Given the description of an element on the screen output the (x, y) to click on. 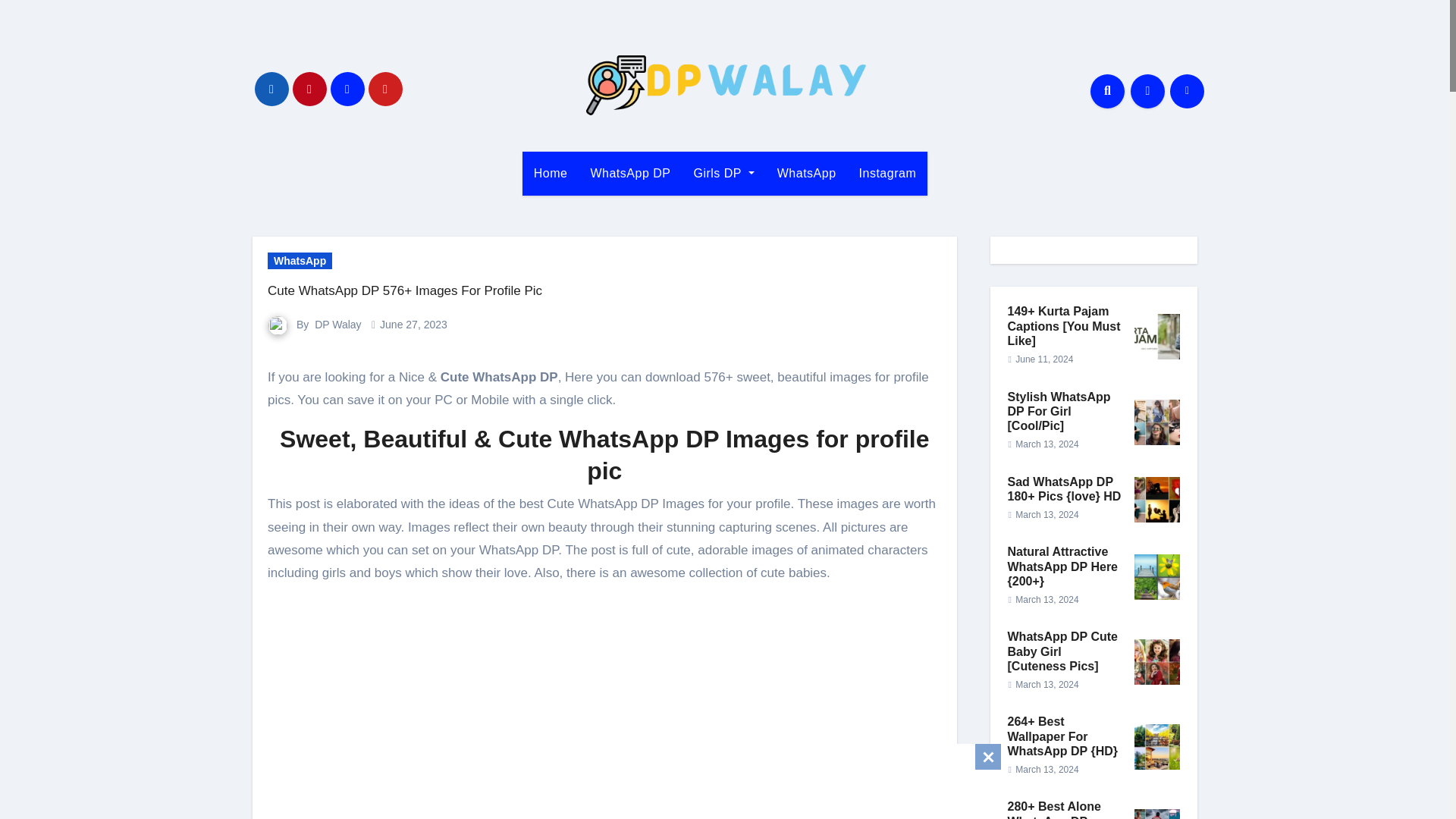
June 27, 2023 (413, 324)
Advertisement (727, 777)
Girls DP (723, 173)
Instagram (887, 173)
WhatsApp DP (629, 173)
Home (550, 173)
DP Walay (337, 324)
WhatsApp (299, 260)
WhatsApp (806, 173)
Advertisement (606, 806)
Advertisement (606, 691)
Instagram (887, 173)
Girls DP (723, 173)
WhatsApp (806, 173)
WhatsApp DP (629, 173)
